Given the description of an element on the screen output the (x, y) to click on. 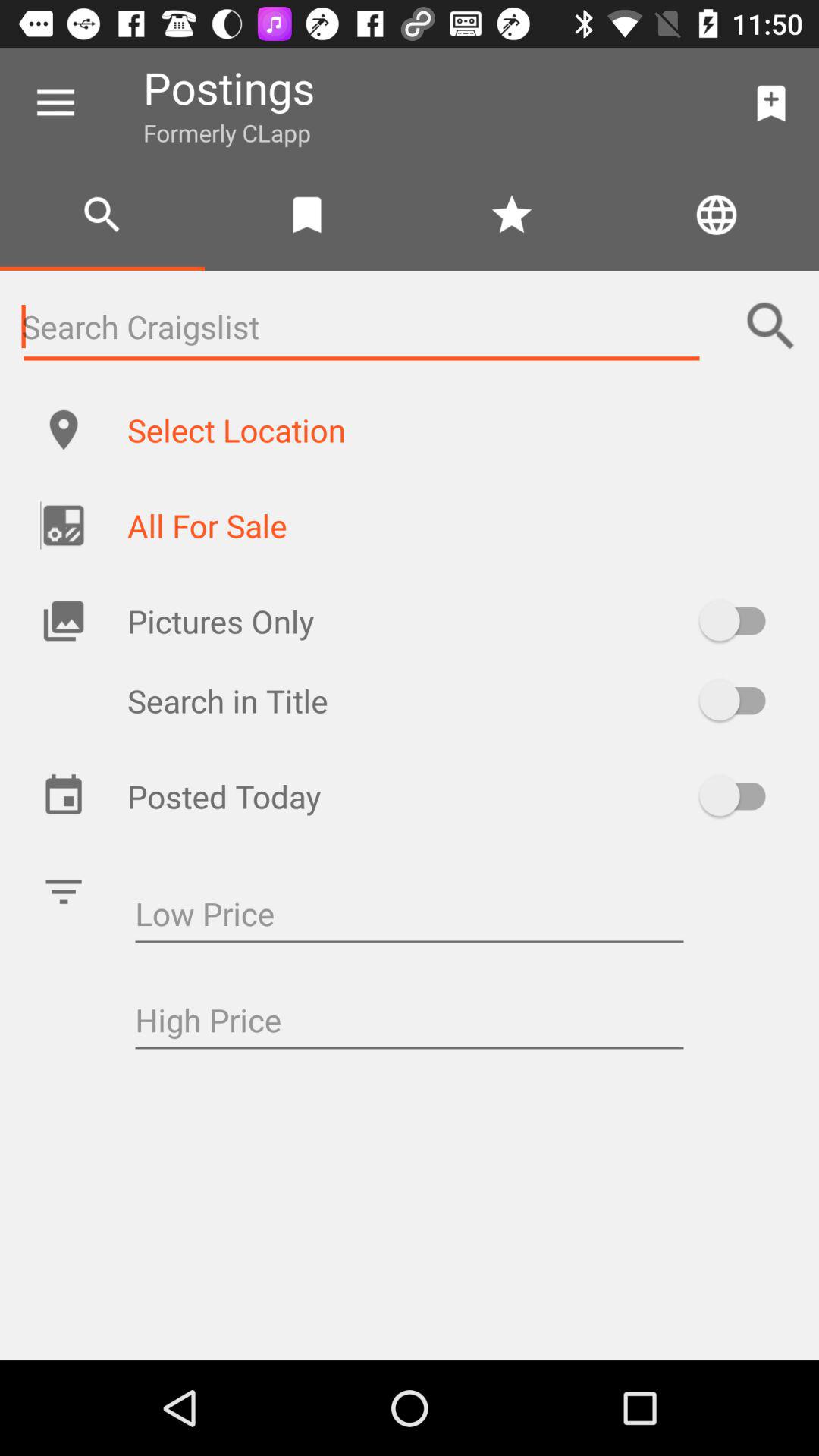
type high price (409, 1021)
